Given the description of an element on the screen output the (x, y) to click on. 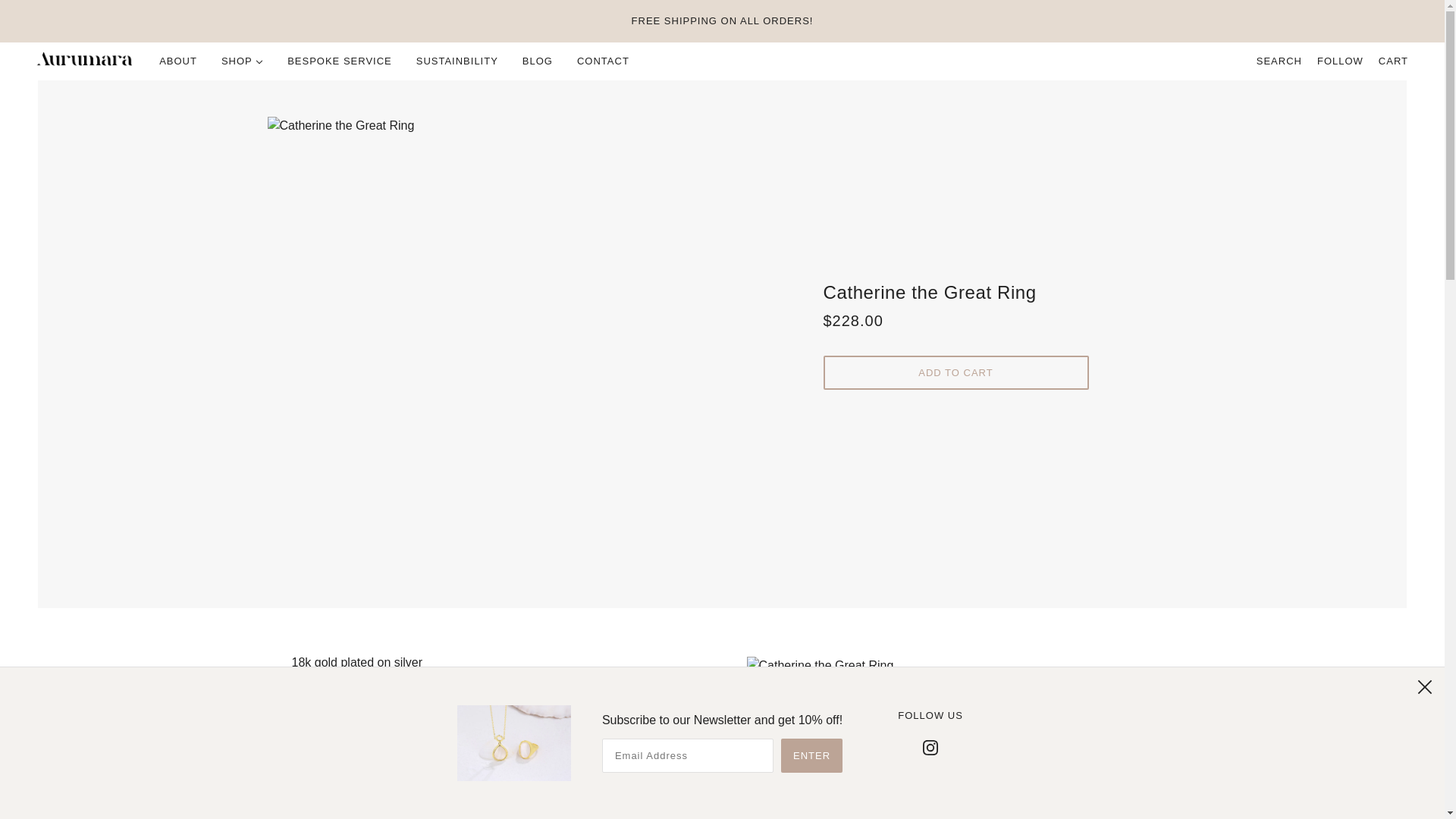
BLOG (537, 61)
SEARCH (1278, 61)
CONTACT (603, 61)
CART (1393, 61)
SHOP (242, 61)
Catherine the Great Ring (956, 298)
BESPOKE SERVICE (339, 61)
ADD TO CART (956, 372)
ABOUT (178, 61)
SUSTAINBILITY (457, 61)
